Given the description of an element on the screen output the (x, y) to click on. 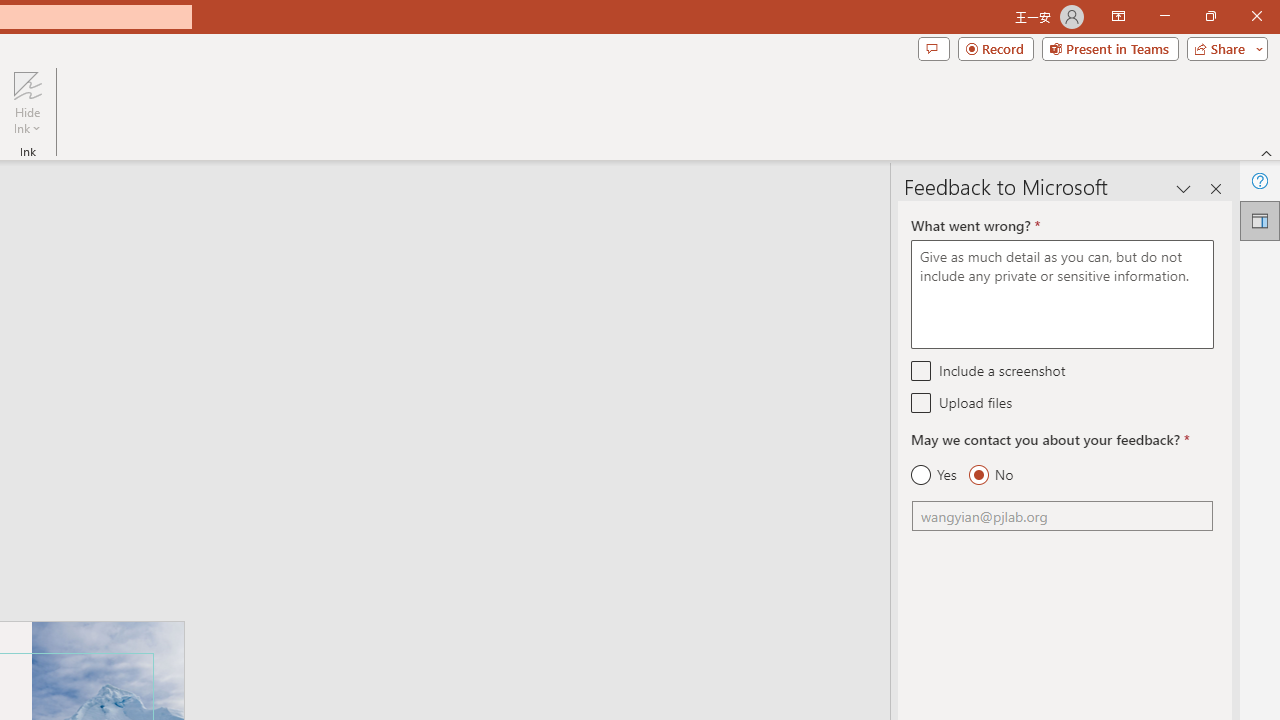
Upload files (921, 402)
Feedback to Microsoft (1260, 220)
No (990, 475)
What went wrong? * (1062, 294)
Include a screenshot (921, 370)
